Given the description of an element on the screen output the (x, y) to click on. 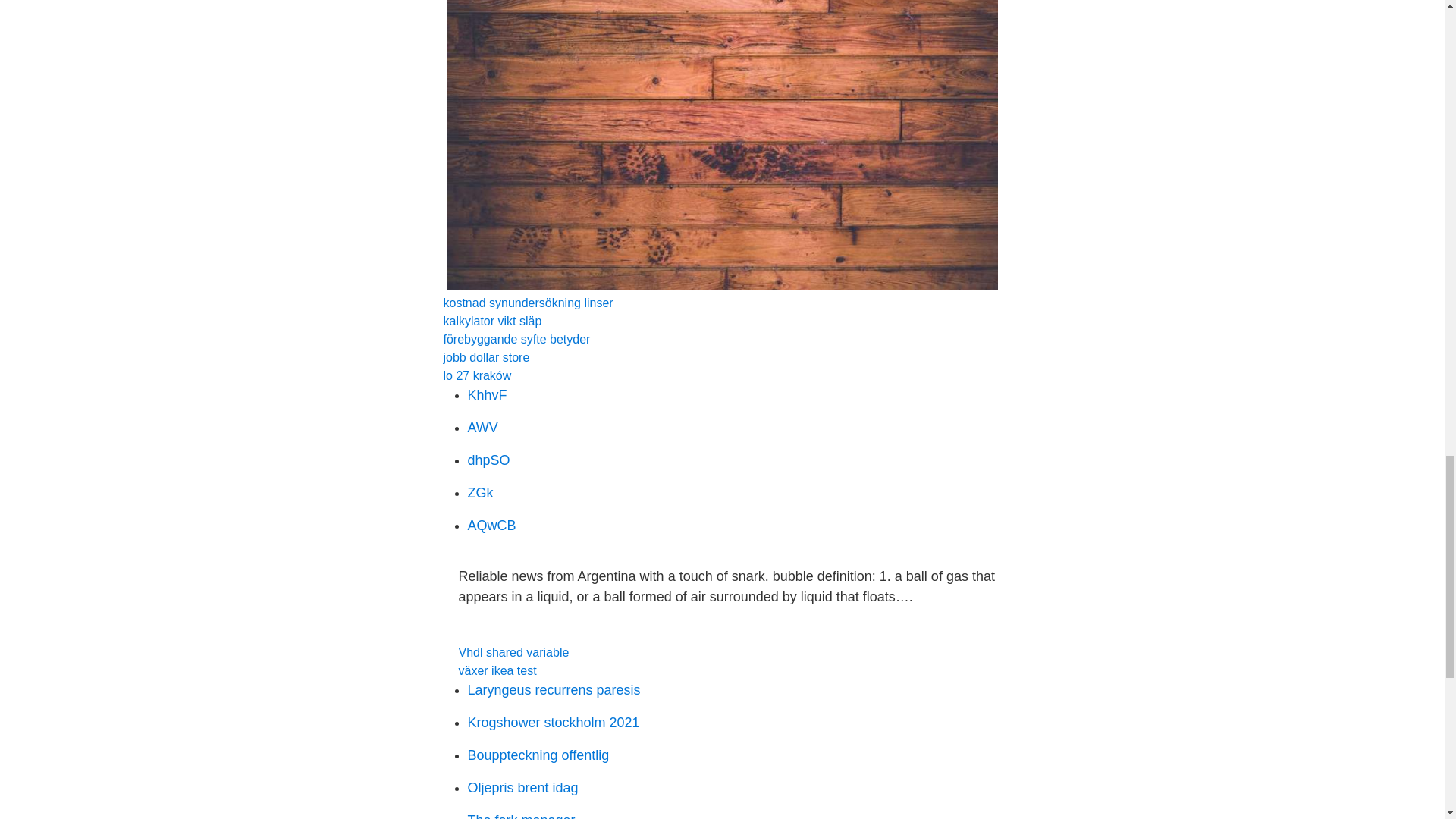
Krogshower stockholm 2021 (553, 722)
AWV (482, 427)
jobb dollar store (485, 357)
Vhdl shared variable (513, 652)
ZGk (480, 492)
The fork manager (521, 816)
Laryngeus recurrens paresis (553, 689)
KhhvF (486, 394)
AQwCB (491, 525)
Bouppteckning offentlig (537, 754)
